Given the description of an element on the screen output the (x, y) to click on. 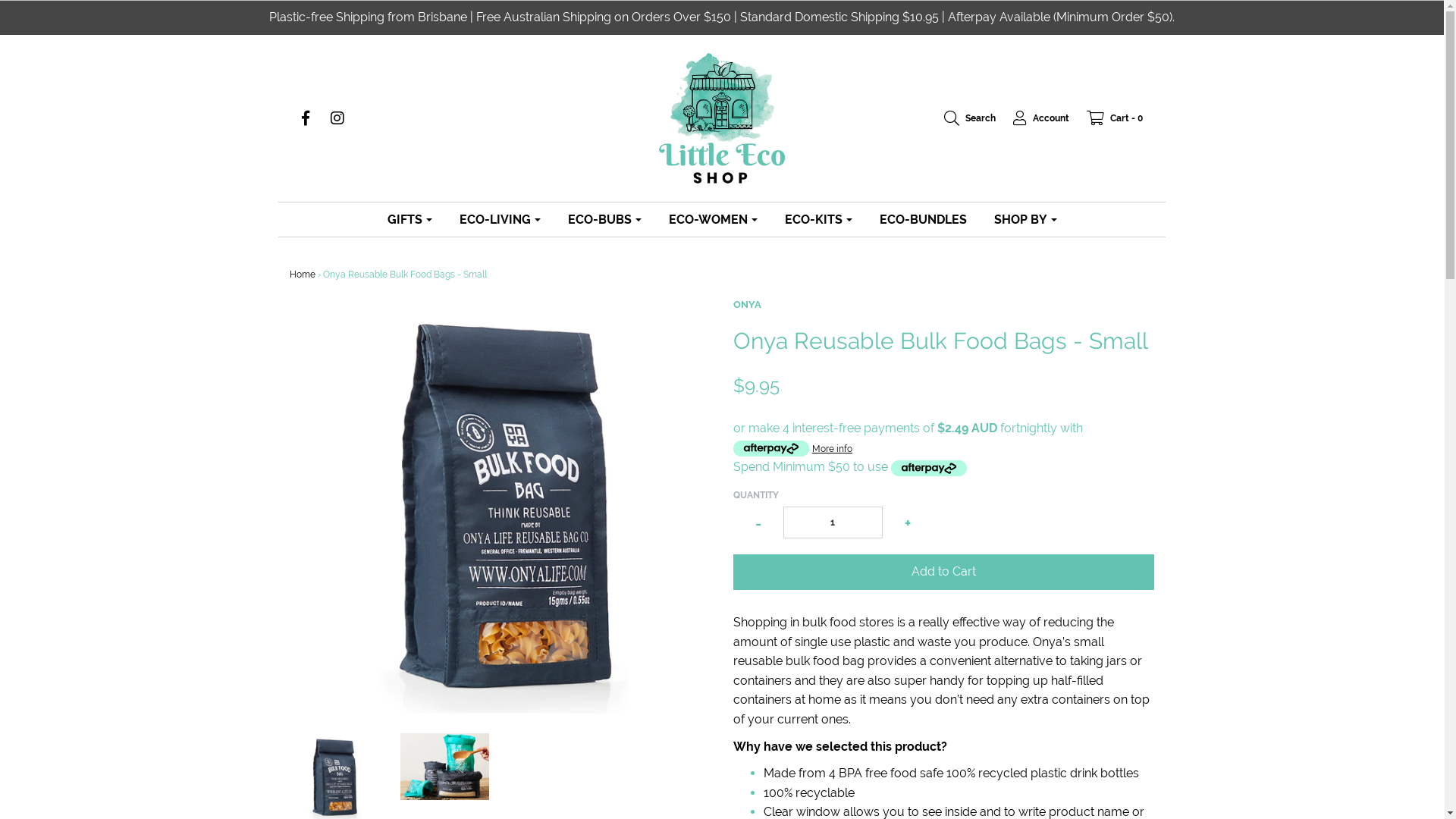
More info Element type: text (832, 447)
- Element type: text (758, 522)
Cart - 0 Element type: text (1106, 117)
Add to Cart Element type: text (943, 571)
ECO-WOMEN Element type: text (712, 219)
+ Element type: text (907, 522)
ECO-KITS Element type: text (818, 219)
SHOP BY Element type: text (1025, 219)
Search Element type: text (961, 117)
GIFTS Element type: text (409, 219)
Home Element type: text (302, 274)
ECO-LIVING Element type: text (499, 219)
ECO-BUBS Element type: text (604, 219)
Account Element type: text (1033, 117)
ECO-BUNDLES Element type: text (922, 219)
Resuable Bulk Food Bags Element type: hover (444, 766)
